Given the description of an element on the screen output the (x, y) to click on. 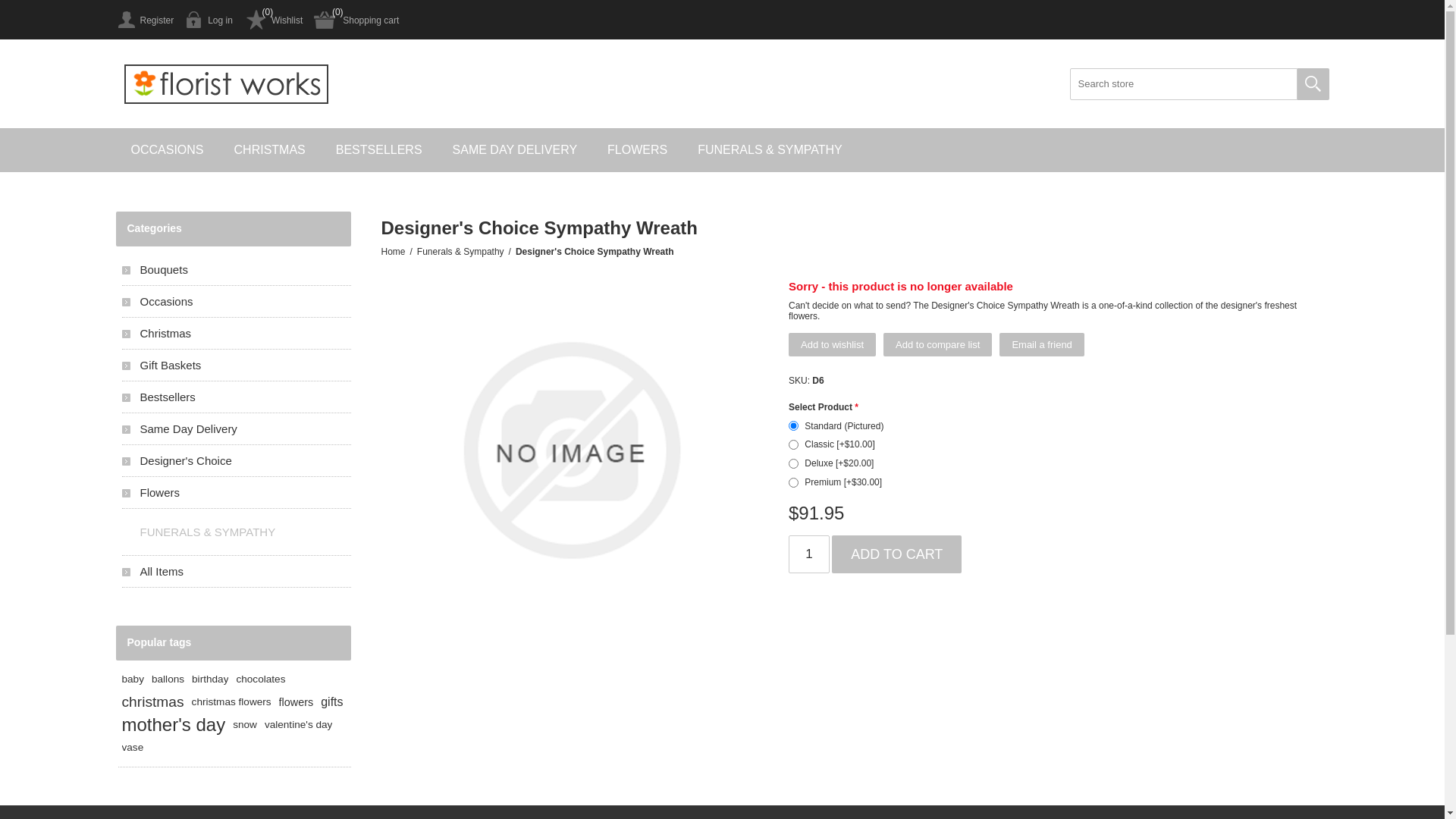
FUNERALS & SYMPATHY Element type: text (769, 150)
Bestsellers Element type: text (235, 396)
ballons Element type: text (167, 679)
OCCASIONS Element type: text (166, 150)
Search Element type: text (1312, 84)
Shopping cart Element type: text (355, 19)
Bouquets Element type: text (235, 269)
gifts Element type: text (331, 701)
christmas Element type: text (152, 701)
Picture of Designer's Choice Sympathy Wreath Element type: hover (570, 450)
Add to compare list Element type: text (937, 344)
FUNERALS & SYMPATHY Element type: text (235, 531)
BESTSELLERS Element type: text (378, 150)
CHRISTMAS Element type: text (269, 150)
Home Element type: text (392, 251)
mother's day Element type: text (173, 724)
Christmas Element type: text (235, 332)
valentine's day Element type: text (298, 724)
Log in Element type: text (208, 19)
chocolates Element type: text (260, 679)
Same Day Delivery Element type: text (235, 428)
SAME DAY DELIVERY Element type: text (515, 150)
Add to cart Element type: text (896, 554)
Wishlist Element type: text (273, 19)
baby Element type: text (132, 679)
Gift Baskets Element type: text (235, 364)
Email a friend Element type: text (1041, 344)
FLOWERS Element type: text (637, 150)
Add to wishlist Element type: text (831, 344)
Occasions Element type: text (235, 300)
Register Element type: text (144, 19)
Flowers Element type: text (235, 492)
christmas flowers Element type: text (231, 701)
All Items Element type: text (235, 570)
birthday Element type: text (209, 679)
flowers Element type: text (296, 701)
snow Element type: text (244, 724)
Funerals & Sympathy Element type: text (460, 251)
Designer's Choice Element type: text (235, 460)
vase Element type: text (132, 747)
